Given the description of an element on the screen output the (x, y) to click on. 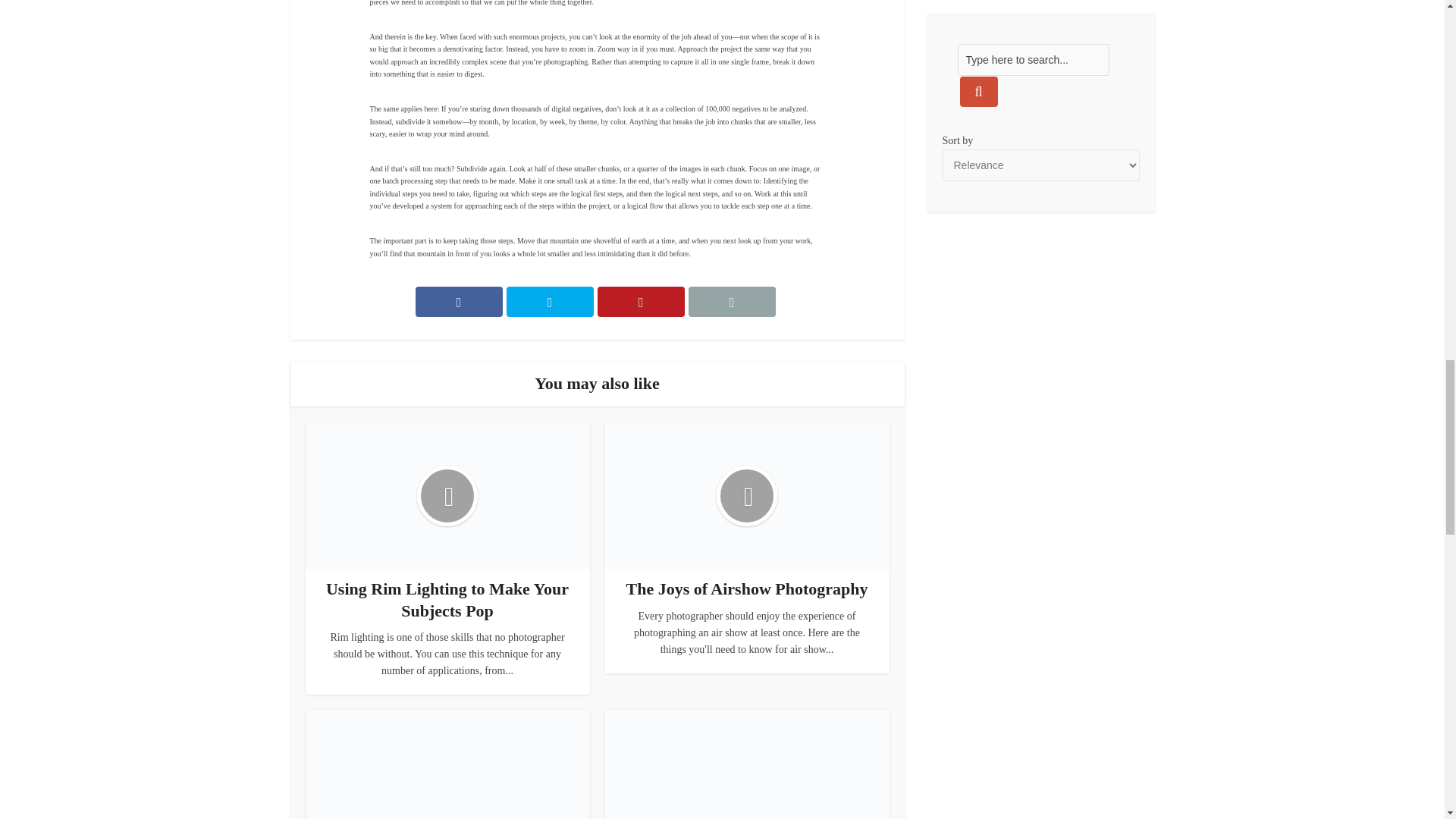
The Joys of Airshow Photography (746, 588)
The Joys of Airshow Photography (746, 588)
Using Rim Lighting to Make Your Subjects Pop (447, 599)
Type here to search... (1032, 60)
Type here to search... (1032, 60)
Using Rim Lighting to Make Your Subjects Pop (447, 599)
